Given the description of an element on the screen output the (x, y) to click on. 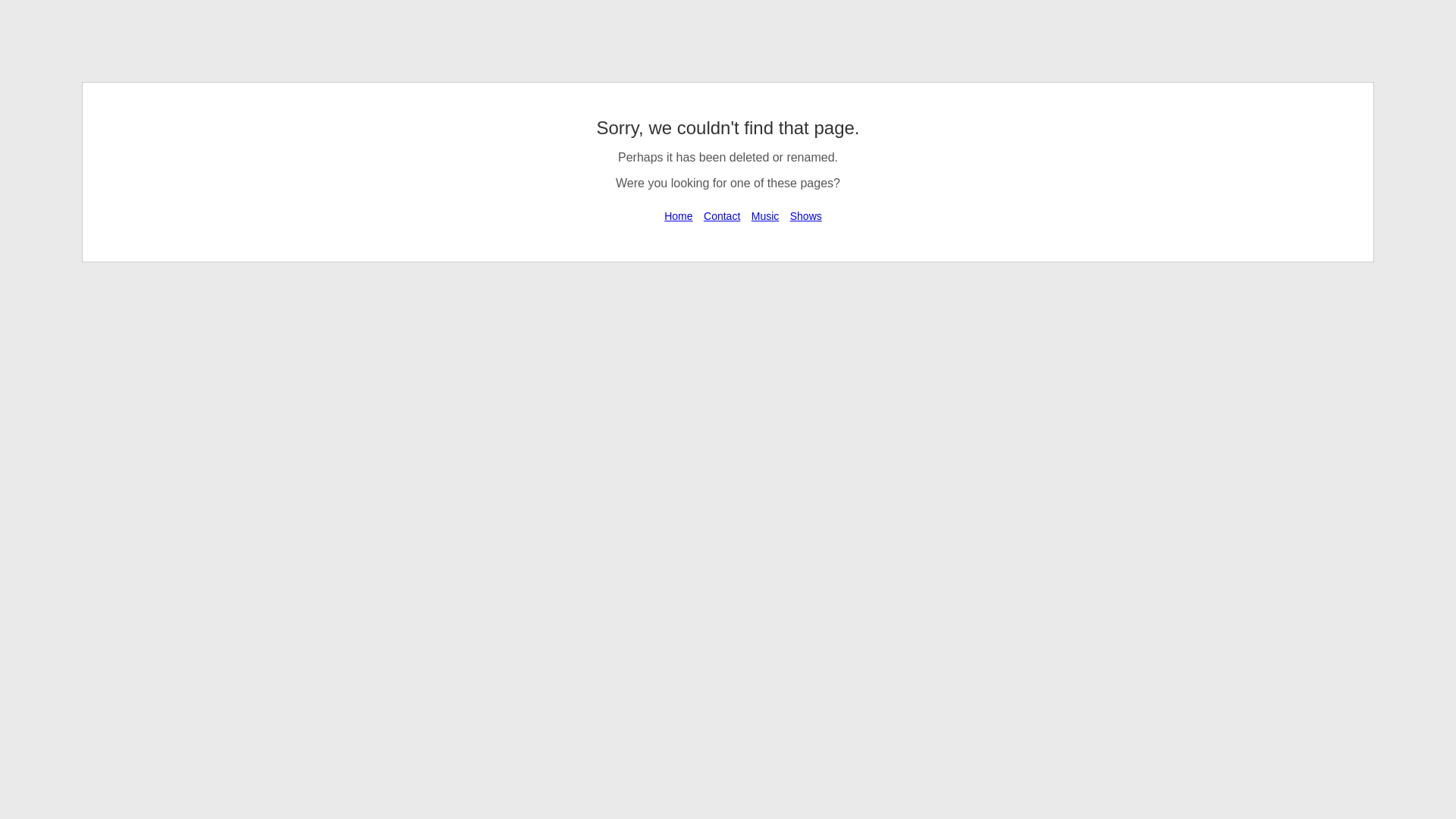
Contact Element type: text (721, 216)
Shows Element type: text (805, 216)
Music Element type: text (765, 216)
Home Element type: text (678, 216)
